Given the description of an element on the screen output the (x, y) to click on. 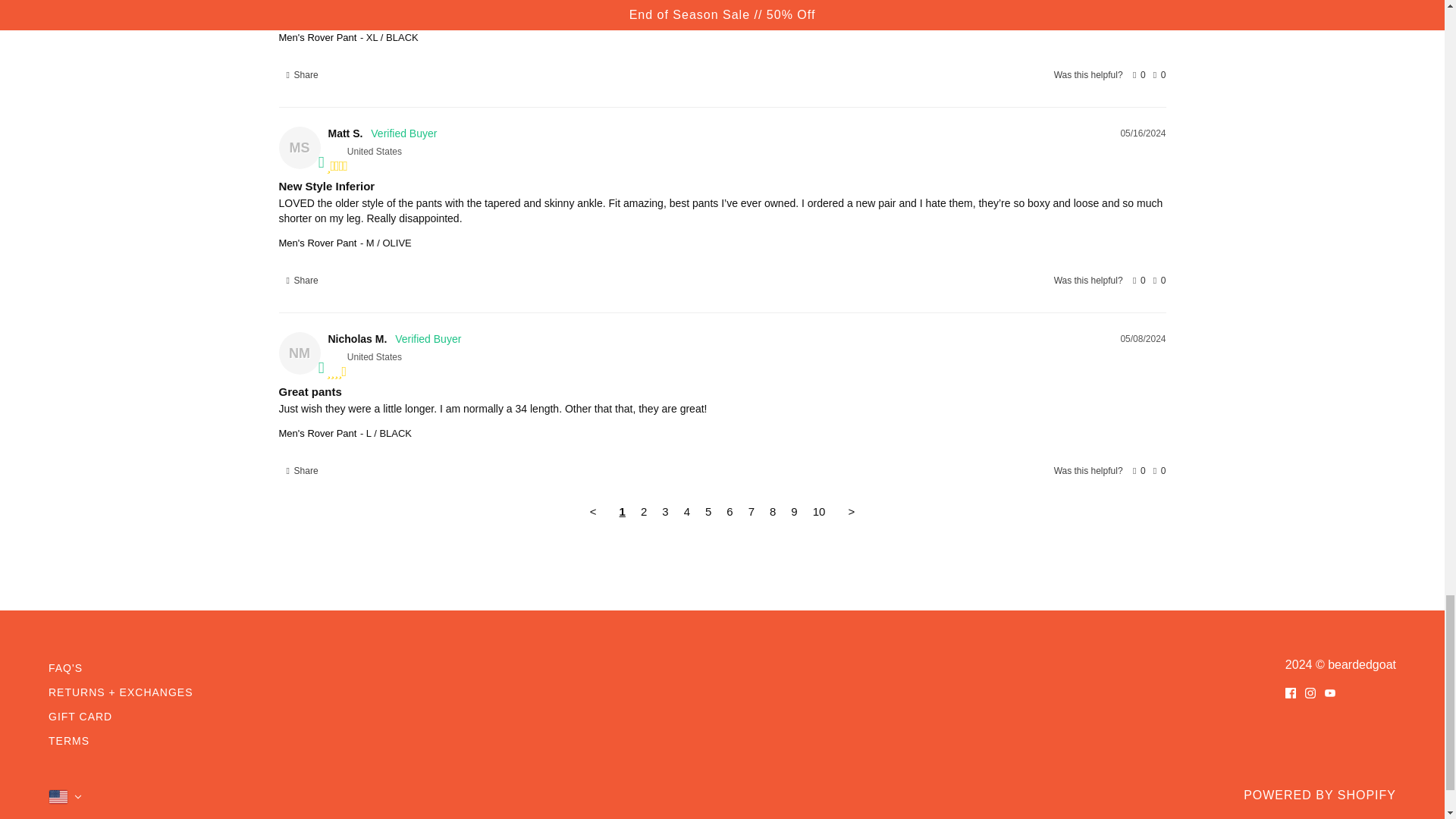
GIFT CARD (80, 716)
FAQ's (65, 667)
TERMS (68, 740)
